Given the description of an element on the screen output the (x, y) to click on. 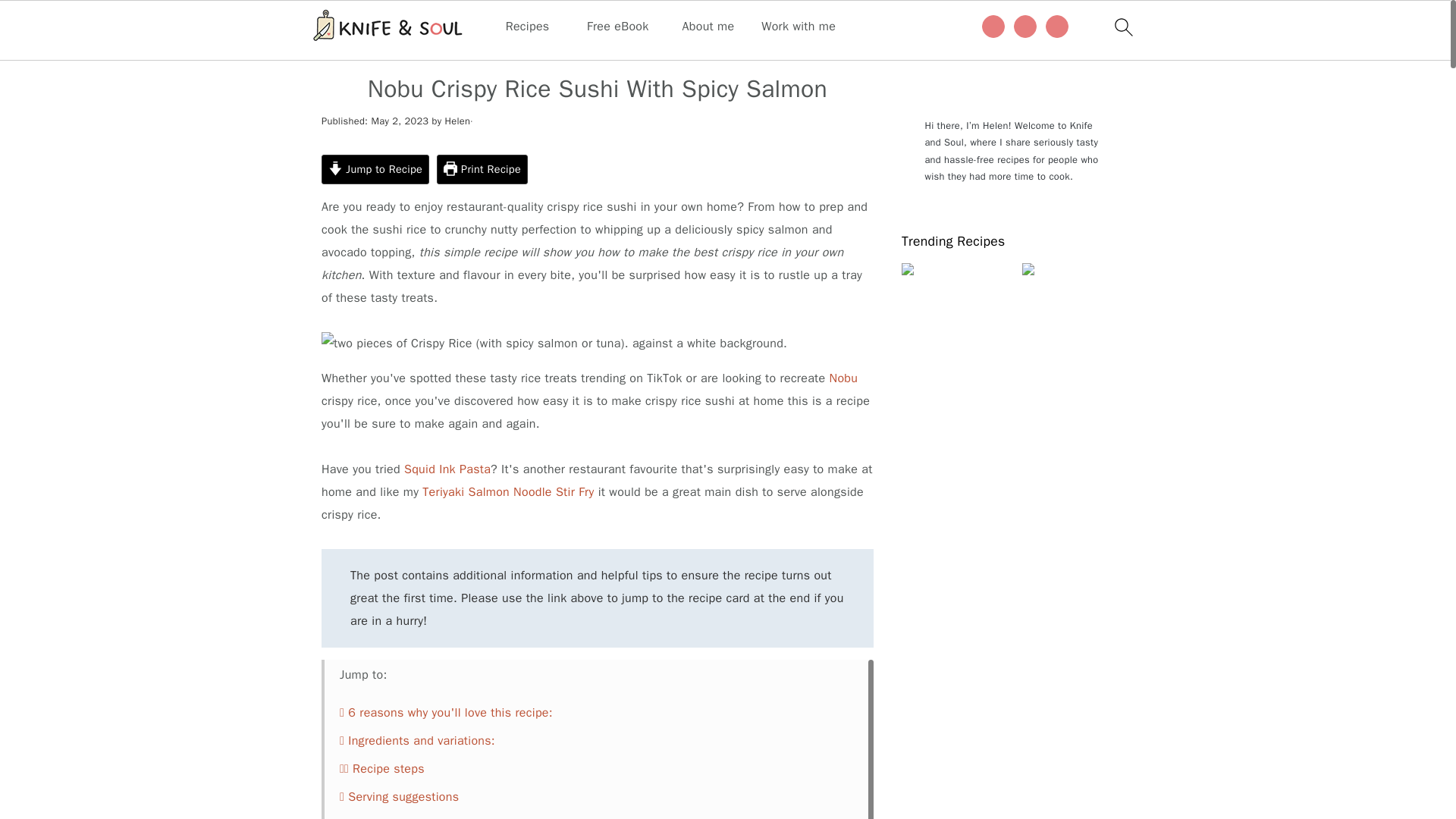
About me (708, 26)
Jump to Recipe (375, 169)
Work with me (798, 26)
Squid Ink Pasta (447, 468)
Free eBook (617, 26)
search icon (1122, 26)
Teriyaki Salmon Noodle Stir Fry (508, 491)
Home (337, 50)
Print Recipe (481, 169)
search icon (1122, 31)
Japanese Recipes (415, 50)
Recipes (527, 26)
Helen (457, 121)
Nobu (844, 378)
